Given the description of an element on the screen output the (x, y) to click on. 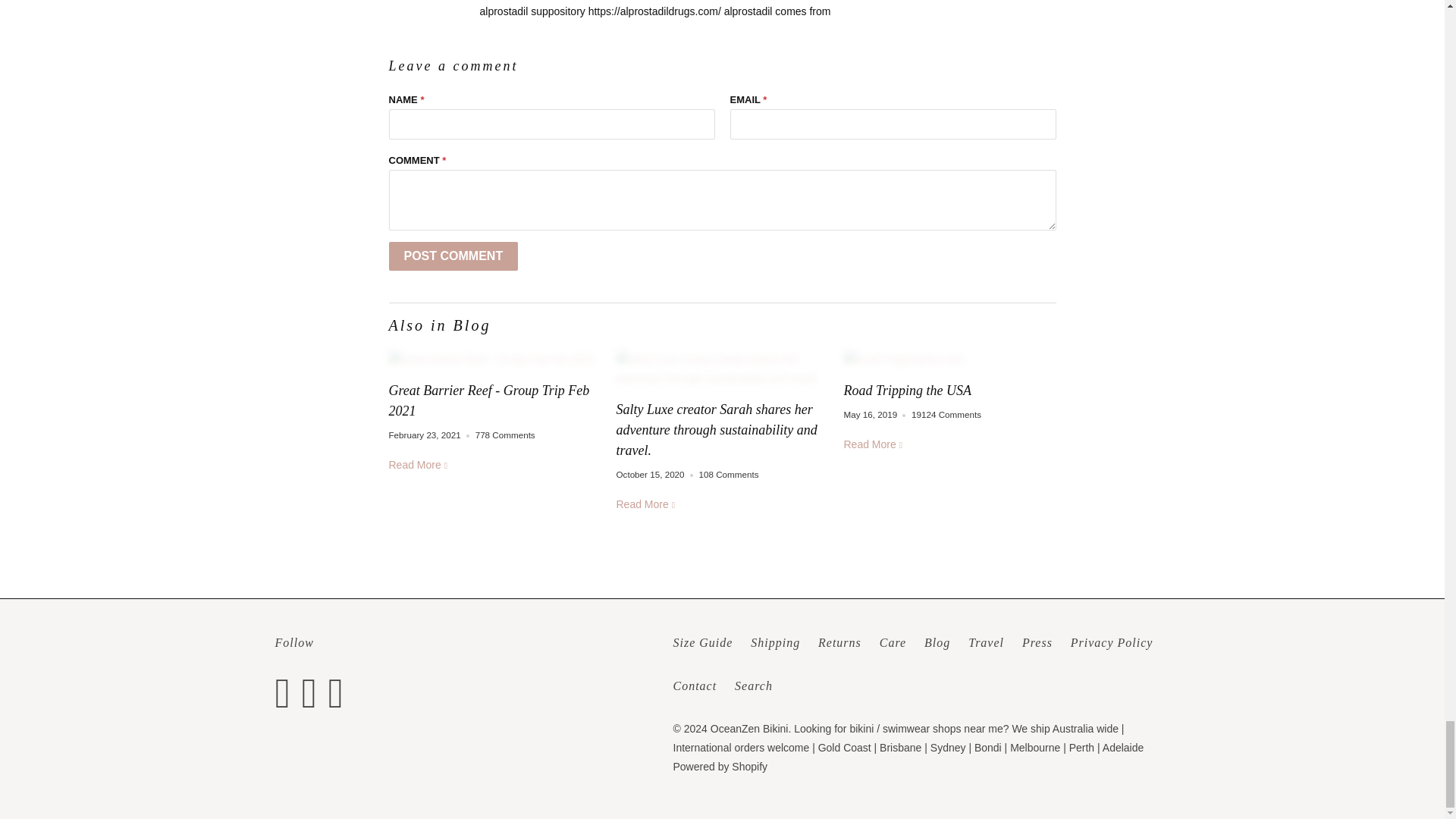
Post comment (453, 256)
Road Tripping the USA (949, 359)
Great Barrier Reef -  Group Trip Feb 2021 (493, 359)
Great Barrier Reef -  Group Trip Feb 2021 (488, 400)
Great Barrier Reef -  Group Trip Feb 2021 (418, 464)
Road Tripping the USA (907, 390)
OceanZen Bikini on Facebook (286, 693)
Road Tripping the USA (873, 444)
